Given the description of an element on the screen output the (x, y) to click on. 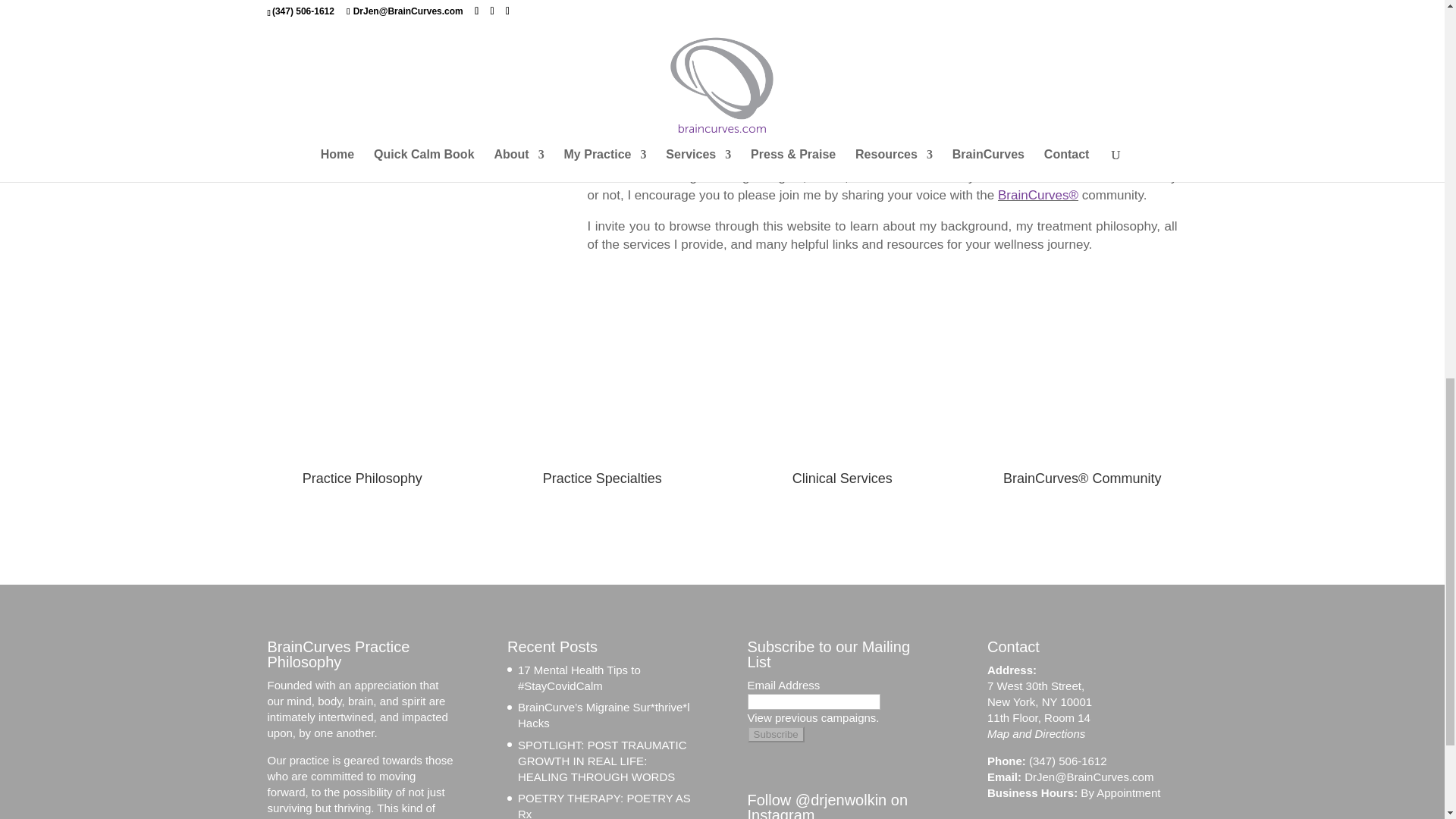
View previous campaigns (813, 717)
Subscribe (776, 734)
